Given the description of an element on the screen output the (x, y) to click on. 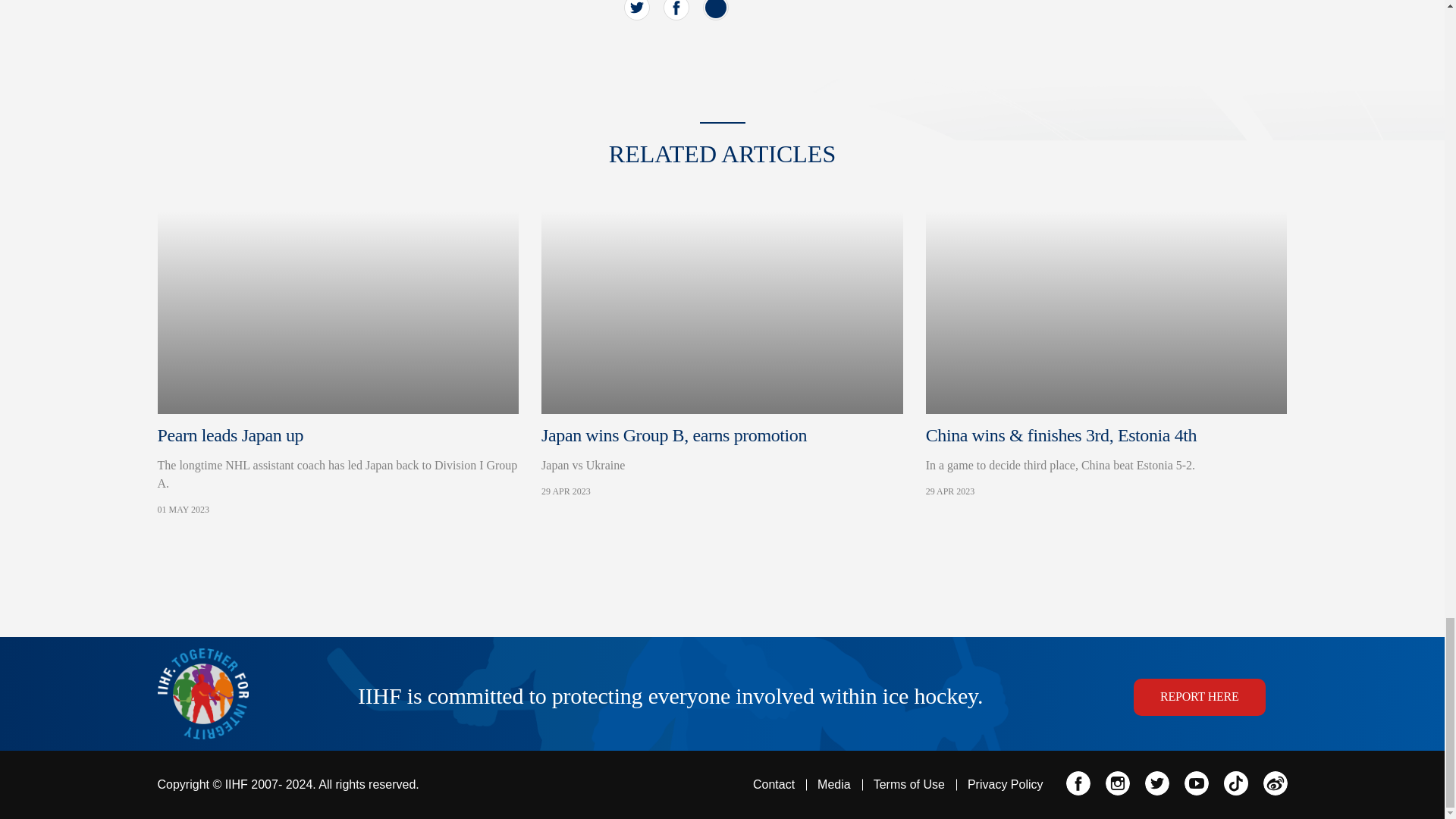
Media (833, 784)
Privacy Policy (1005, 784)
Contact (773, 784)
Terms of Use (721, 449)
